Given the description of an element on the screen output the (x, y) to click on. 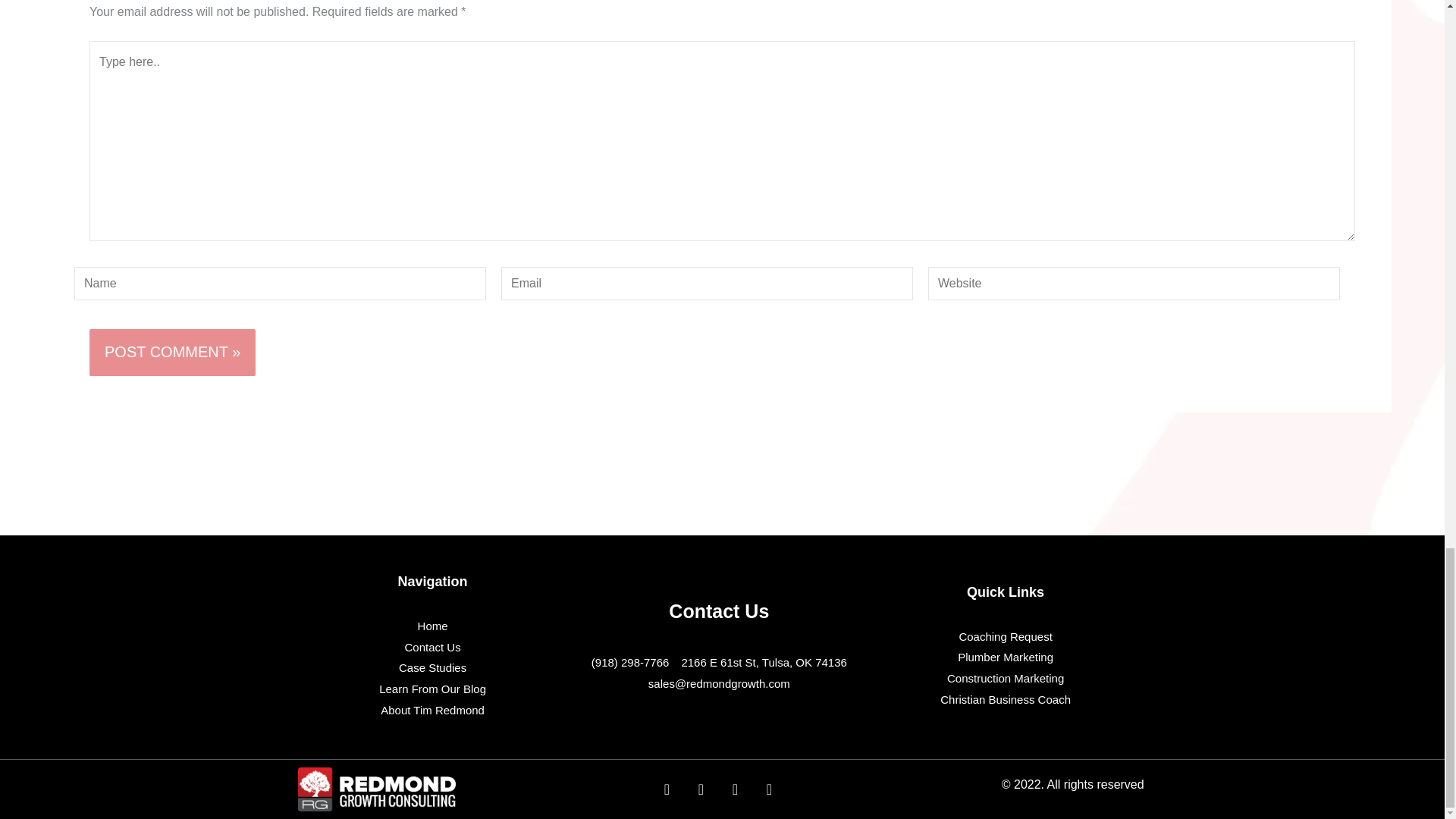
Construction Marketing (1005, 678)
Contact Us (432, 647)
Home (432, 626)
About Tim Redmond (432, 710)
Learn From Our Blog (432, 689)
Case Studies (432, 667)
Plumber Marketing (1005, 657)
